Given the description of an element on the screen output the (x, y) to click on. 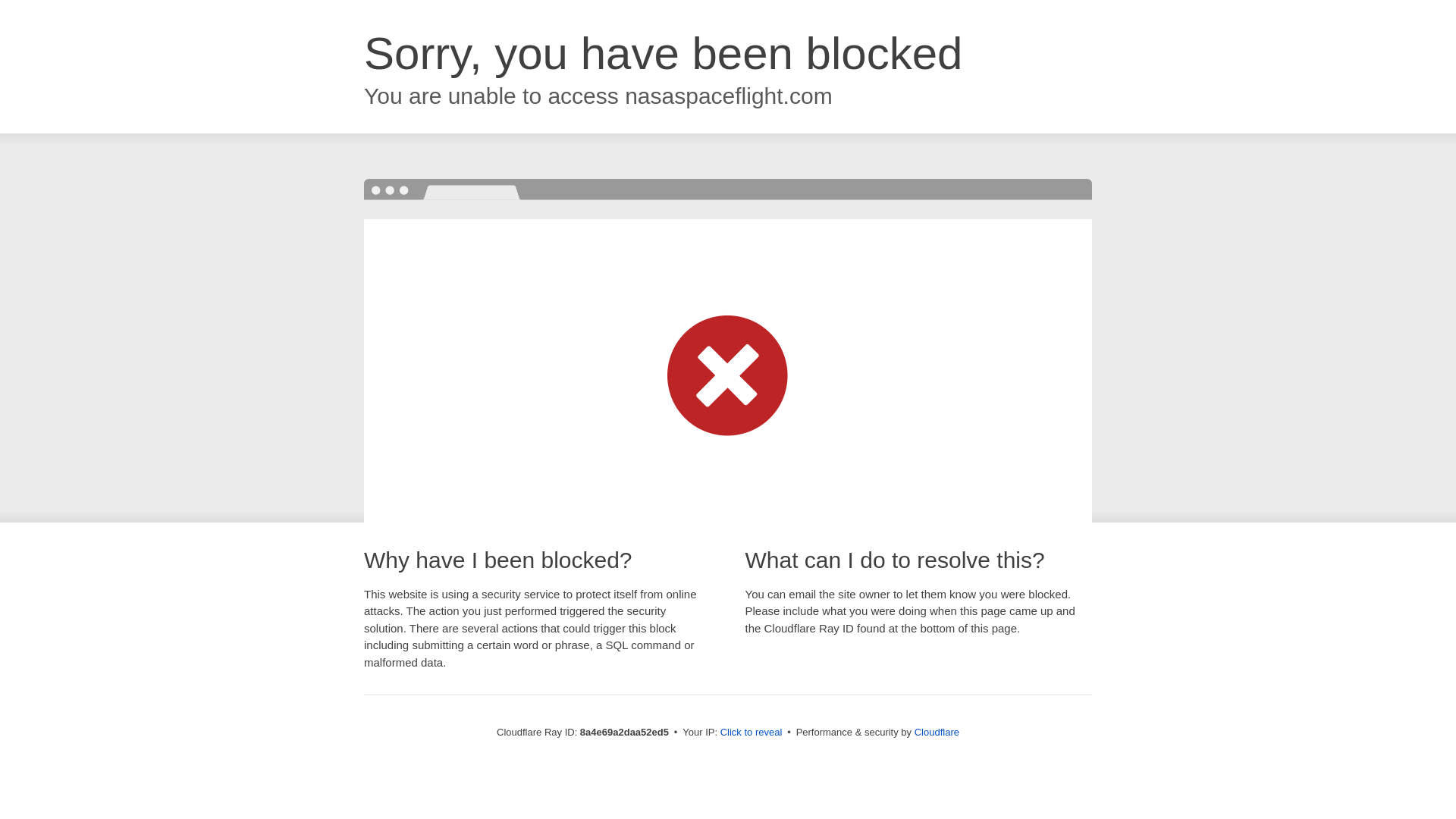
Click to reveal (751, 732)
Cloudflare (936, 731)
